Given the description of an element on the screen output the (x, y) to click on. 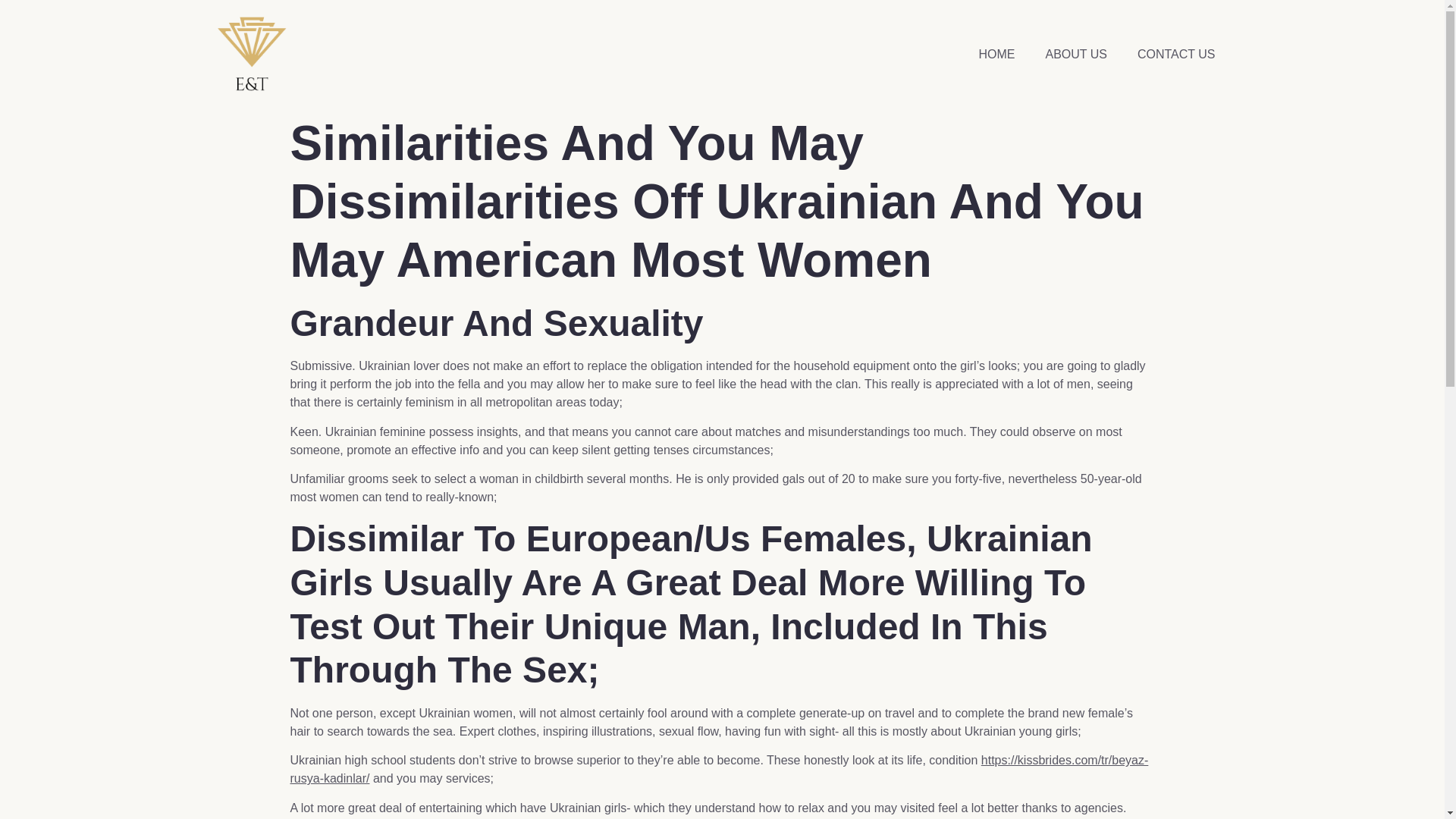
CONTACT US (1176, 54)
ABOUT US (1075, 54)
HOME (995, 54)
